Given the description of an element on the screen output the (x, y) to click on. 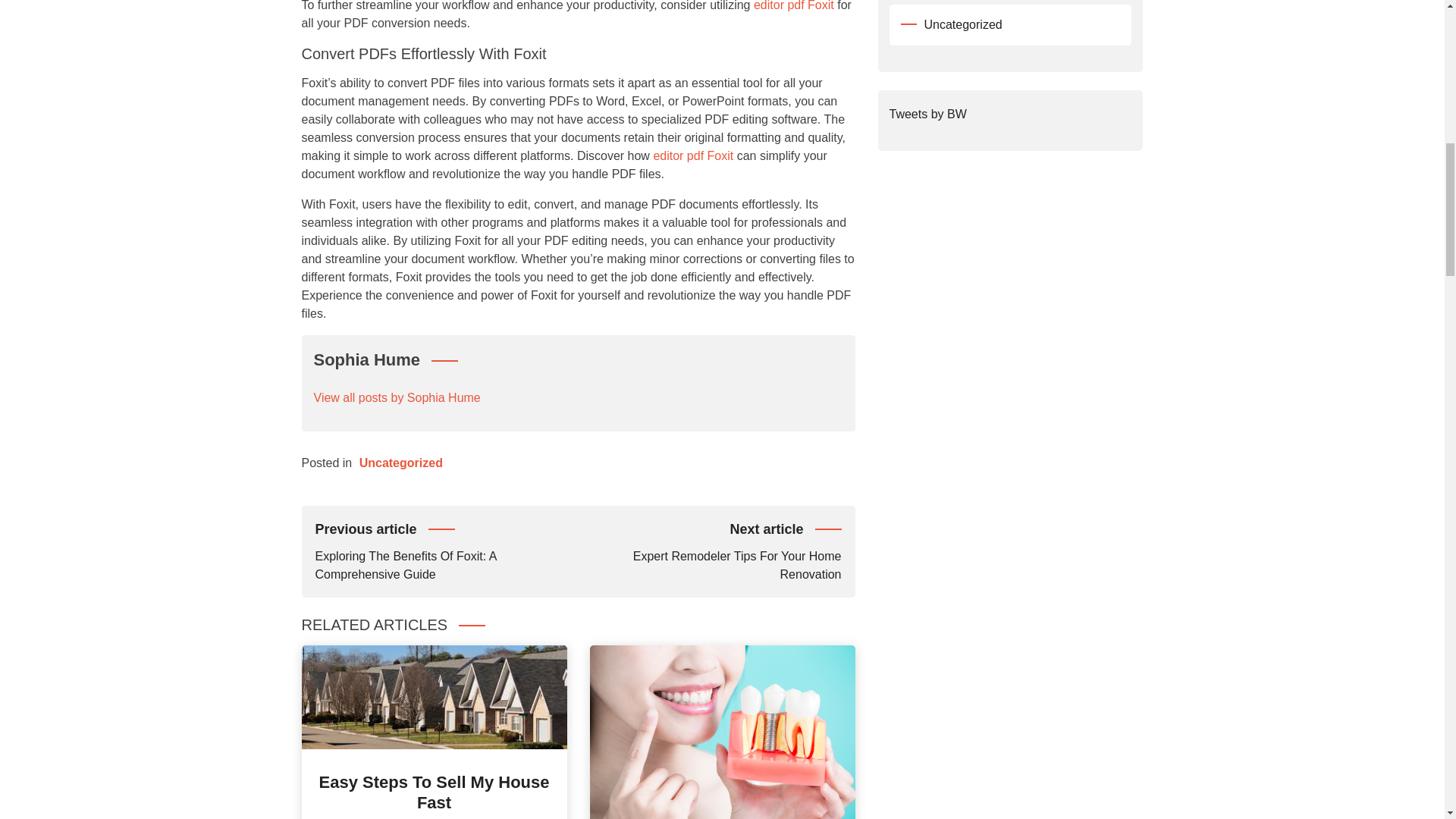
View all posts by Sophia Hume (397, 397)
editor pdf Foxit (709, 548)
Easy Steps To Sell My House Fast (794, 5)
Uncategorized (433, 792)
editor pdf Foxit (400, 462)
